Given the description of an element on the screen output the (x, y) to click on. 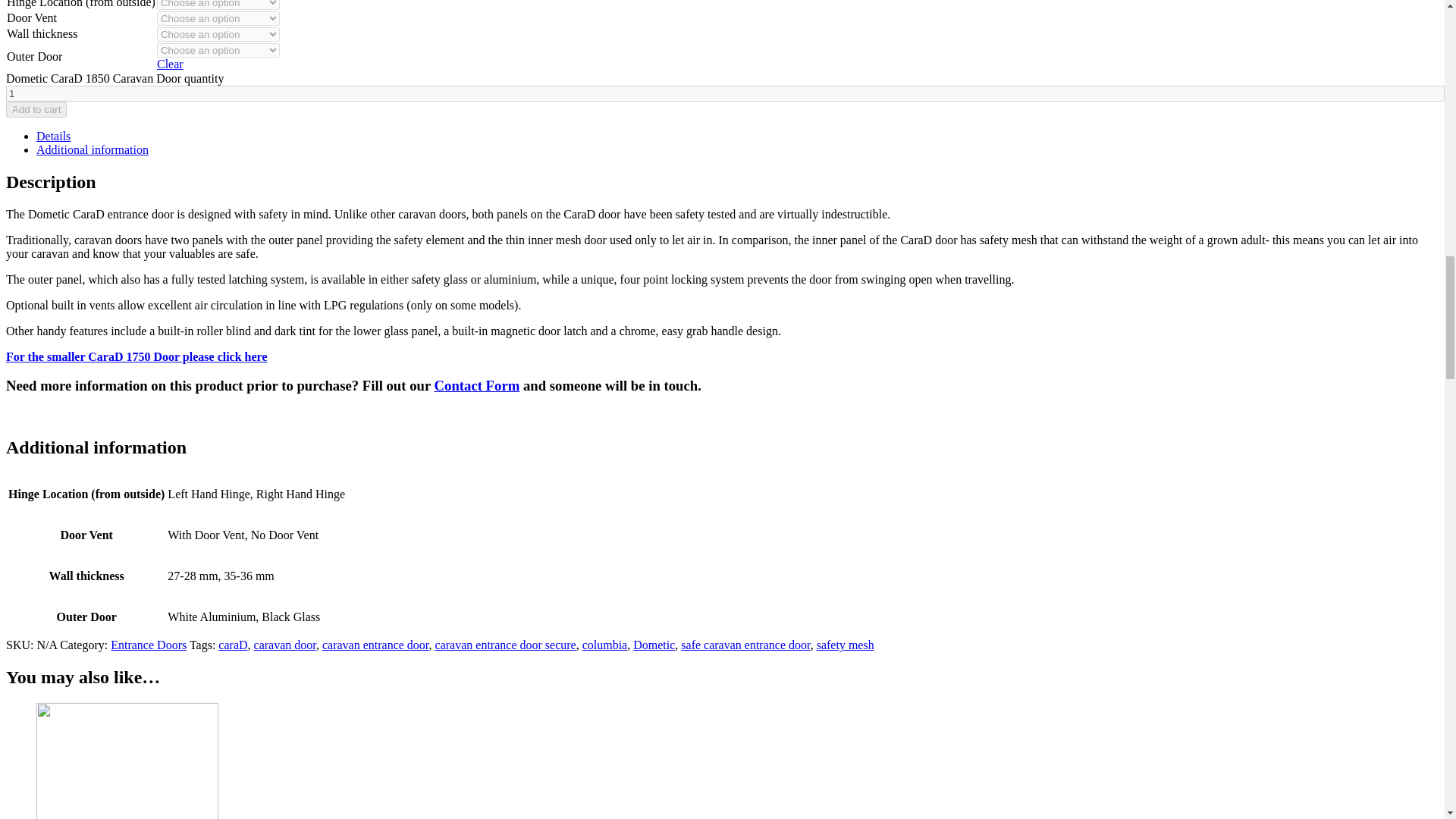
safety mesh (845, 644)
caravan door (284, 644)
caraD (232, 644)
Additional information (92, 149)
caravan entrance door secure (505, 644)
Contact Form (476, 385)
caravan entrance door (375, 644)
Entrance Doors (148, 644)
safe caravan entrance door (745, 644)
Clear (170, 63)
